Given the description of an element on the screen output the (x, y) to click on. 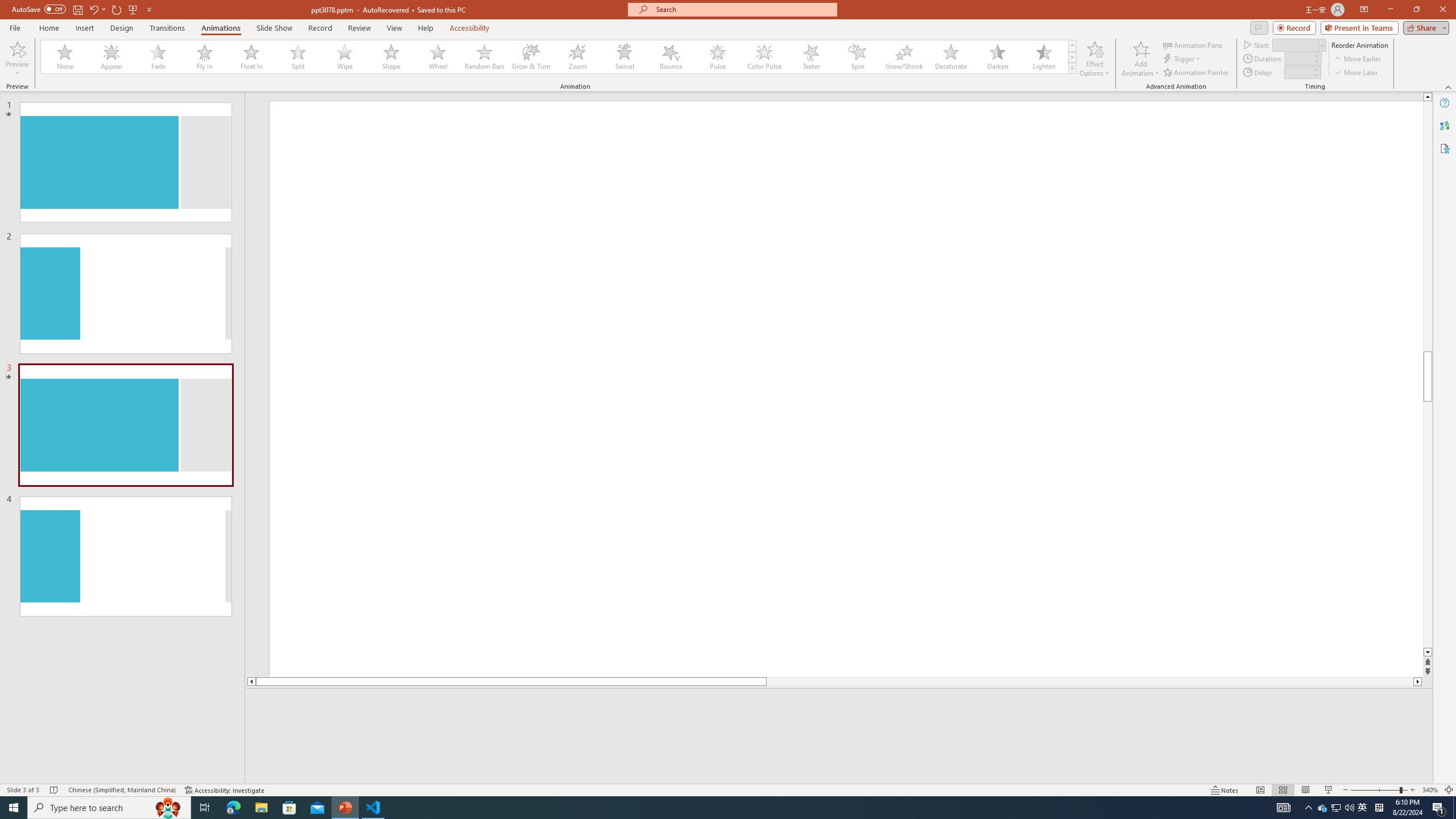
Animation Pane (1193, 44)
Page up (1427, 226)
Class: MsoCommandBar (728, 789)
More (1315, 69)
Darken (997, 56)
Wheel (437, 56)
Animation Styles (1071, 67)
Split (298, 56)
Spin (857, 56)
Fly In (205, 56)
Animation Delay (1297, 72)
